Given the description of an element on the screen output the (x, y) to click on. 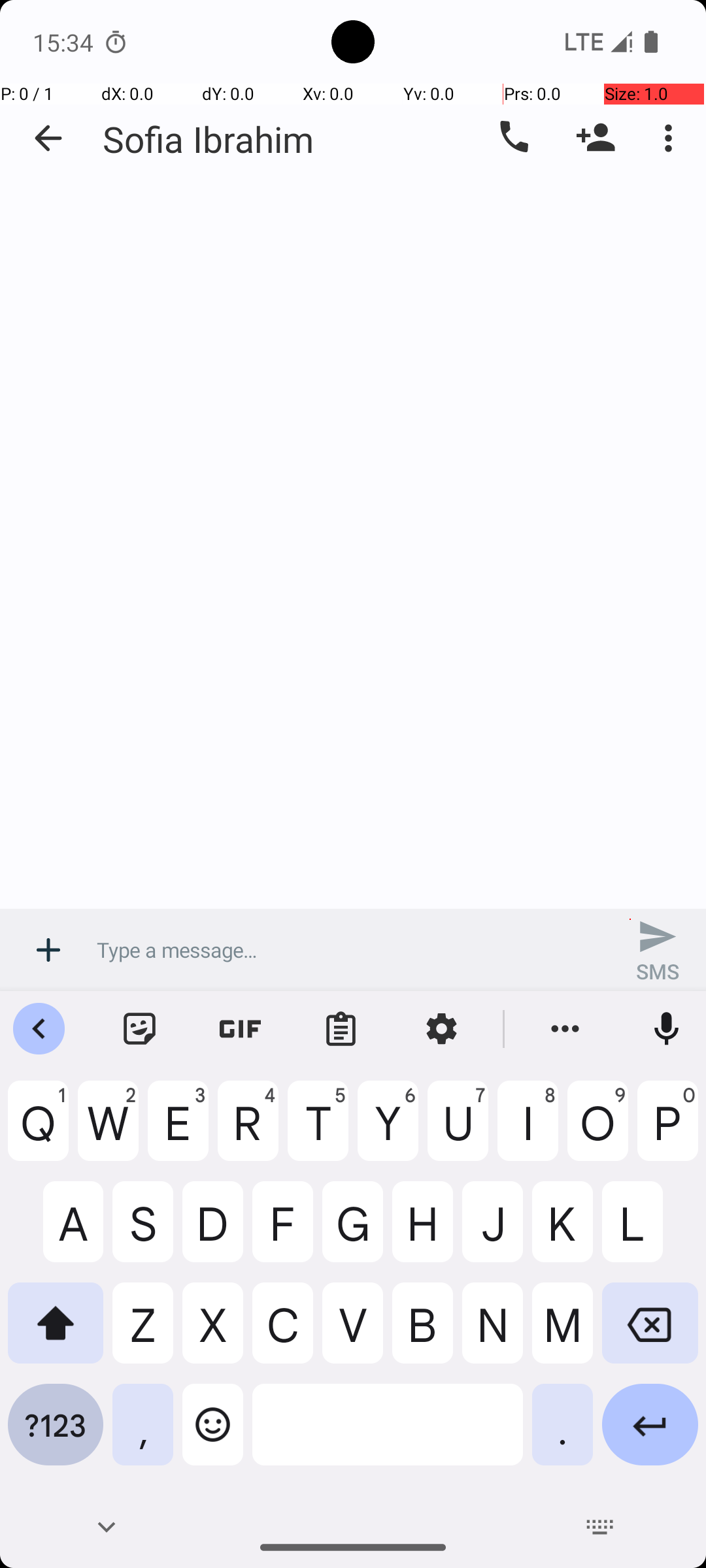
Sofia Ibrahim Element type: android.widget.TextView (207, 138)
